Given the description of an element on the screen output the (x, y) to click on. 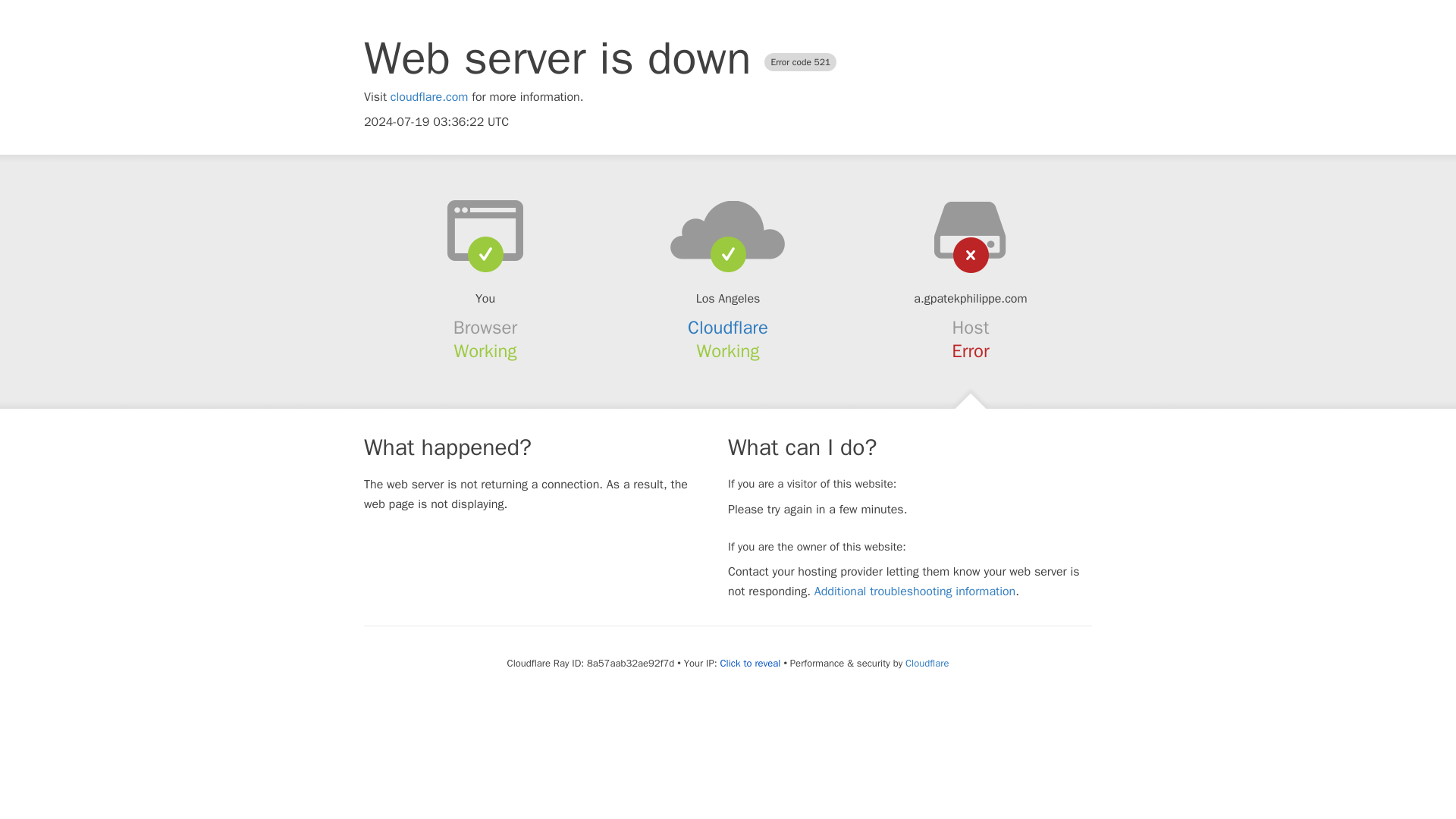
Cloudflare (727, 327)
Additional troubleshooting information (913, 590)
cloudflare.com (429, 96)
Cloudflare (927, 662)
Click to reveal (750, 663)
